Given the description of an element on the screen output the (x, y) to click on. 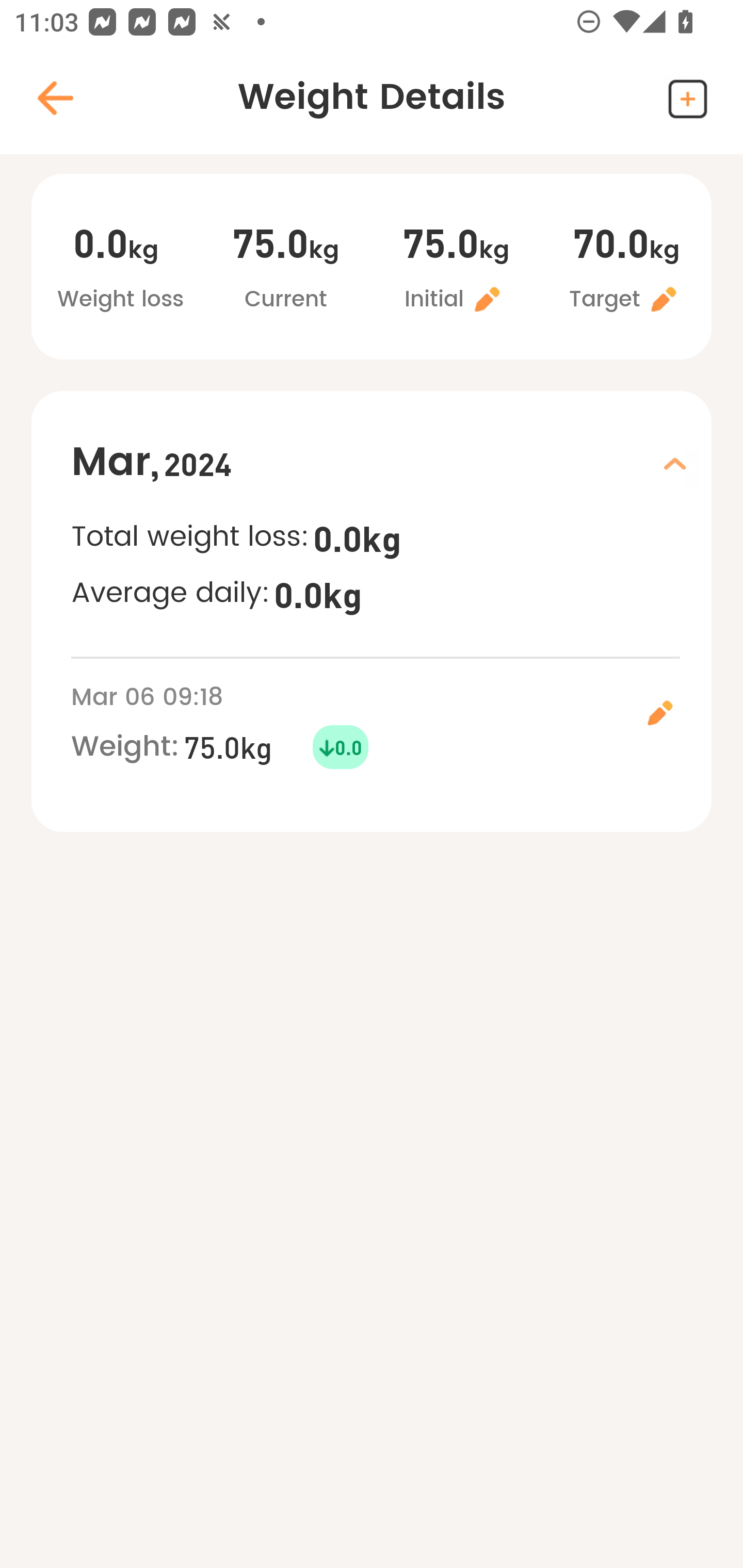
75.0kg Initial (455, 268)
70.0kg Target (625, 268)
Mar 06 09:18 Weight: 75.0kg 0.0 (391, 723)
